Given the description of an element on the screen output the (x, y) to click on. 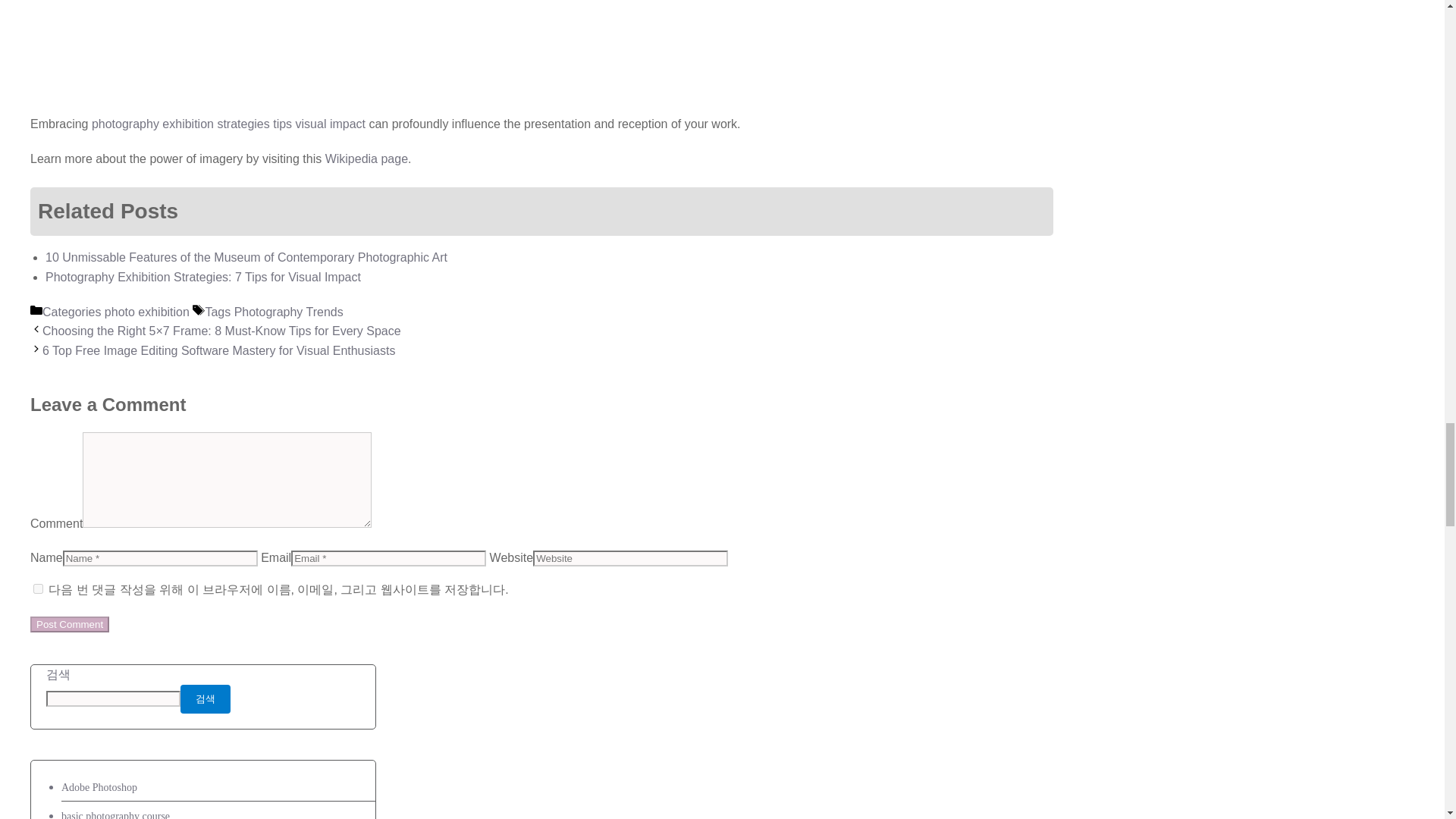
photo exhibition (146, 311)
yes (38, 588)
Wikipedia page (365, 158)
photography exhibition strategies tips visual impact (228, 123)
Adobe Photoshop (98, 787)
Post Comment (69, 624)
Photography Exhibition Strategies: 7 Tips for Visual Impact (203, 277)
Photography Trends (288, 311)
Post Comment (69, 624)
basic photography course (115, 814)
